Given the description of an element on the screen output the (x, y) to click on. 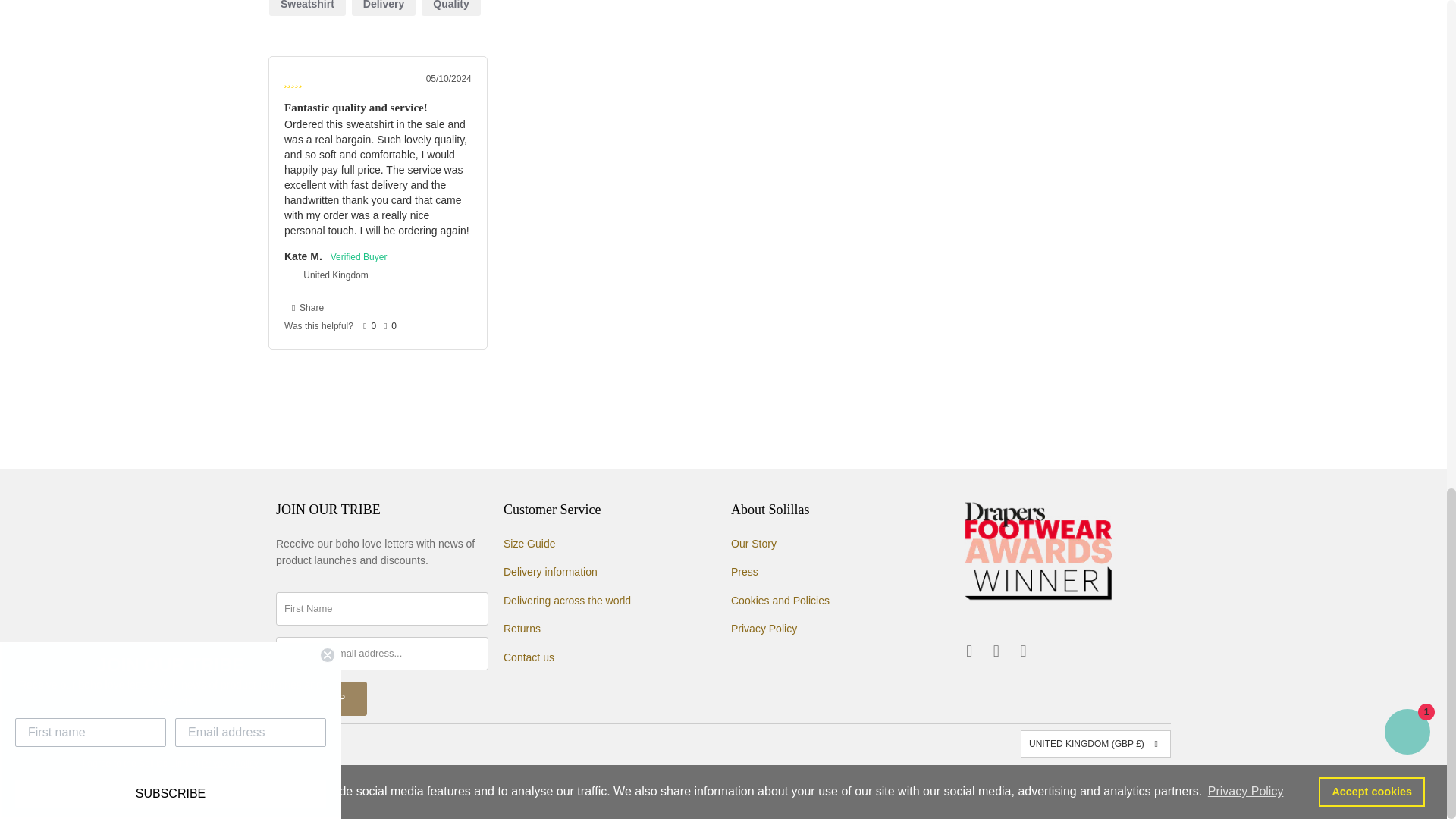
Mastercard (994, 784)
Union Pay (1112, 784)
Apple Pay (798, 784)
Visa (1152, 784)
Google Pay (916, 784)
PayPal (1034, 784)
American Express (759, 784)
Diners Club (837, 784)
Shop Pay (1073, 784)
Discover (877, 784)
Sign Up (321, 698)
Maestro (955, 784)
